Given the description of an element on the screen output the (x, y) to click on. 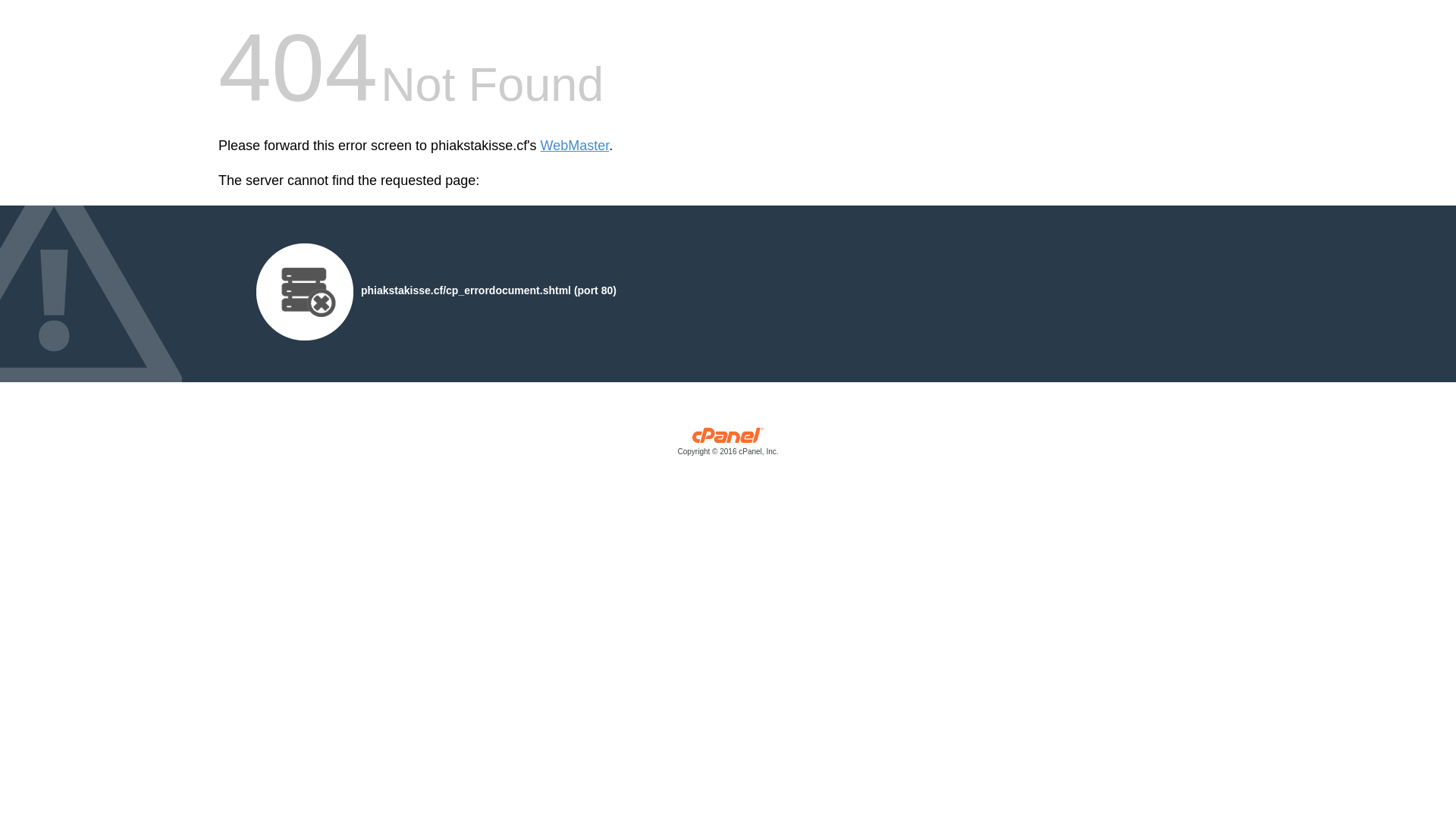
WebMaster Element type: text (574, 145)
